Given the description of an element on the screen output the (x, y) to click on. 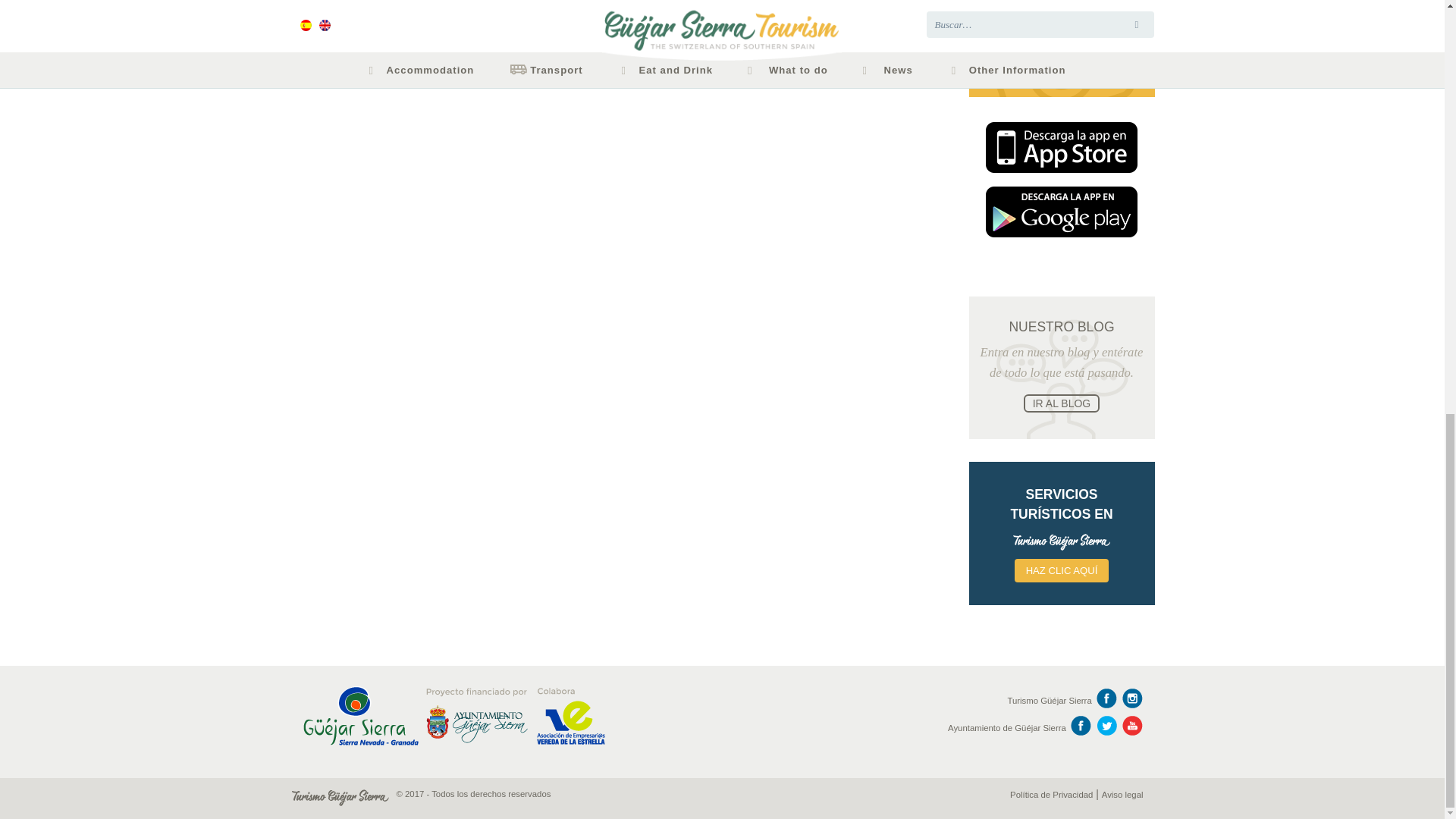
IR AL BLOG (1061, 402)
Aviso legal (1122, 794)
